Given the description of an element on the screen output the (x, y) to click on. 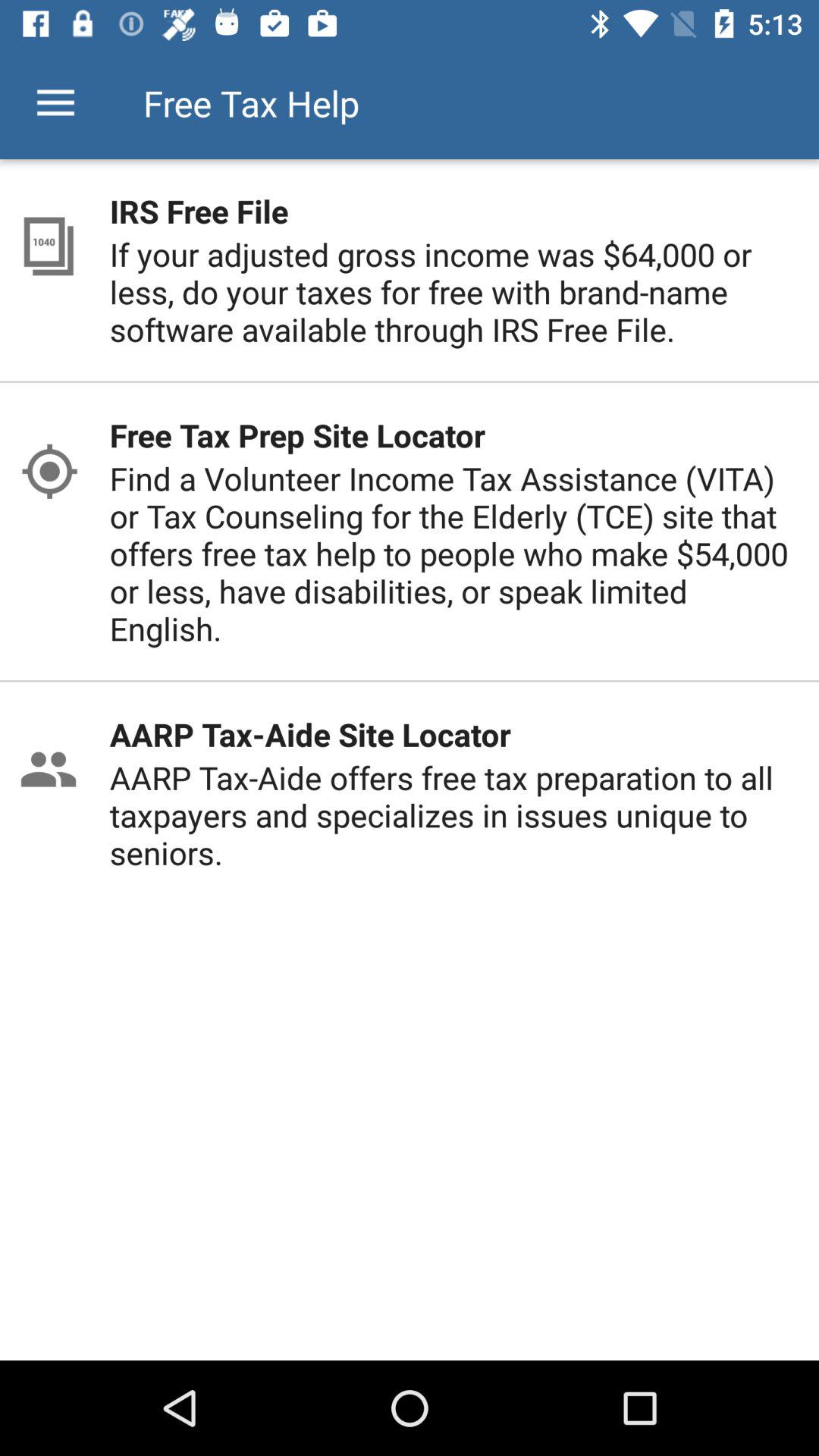
turn on the item next to free tax help (55, 103)
